Given the description of an element on the screen output the (x, y) to click on. 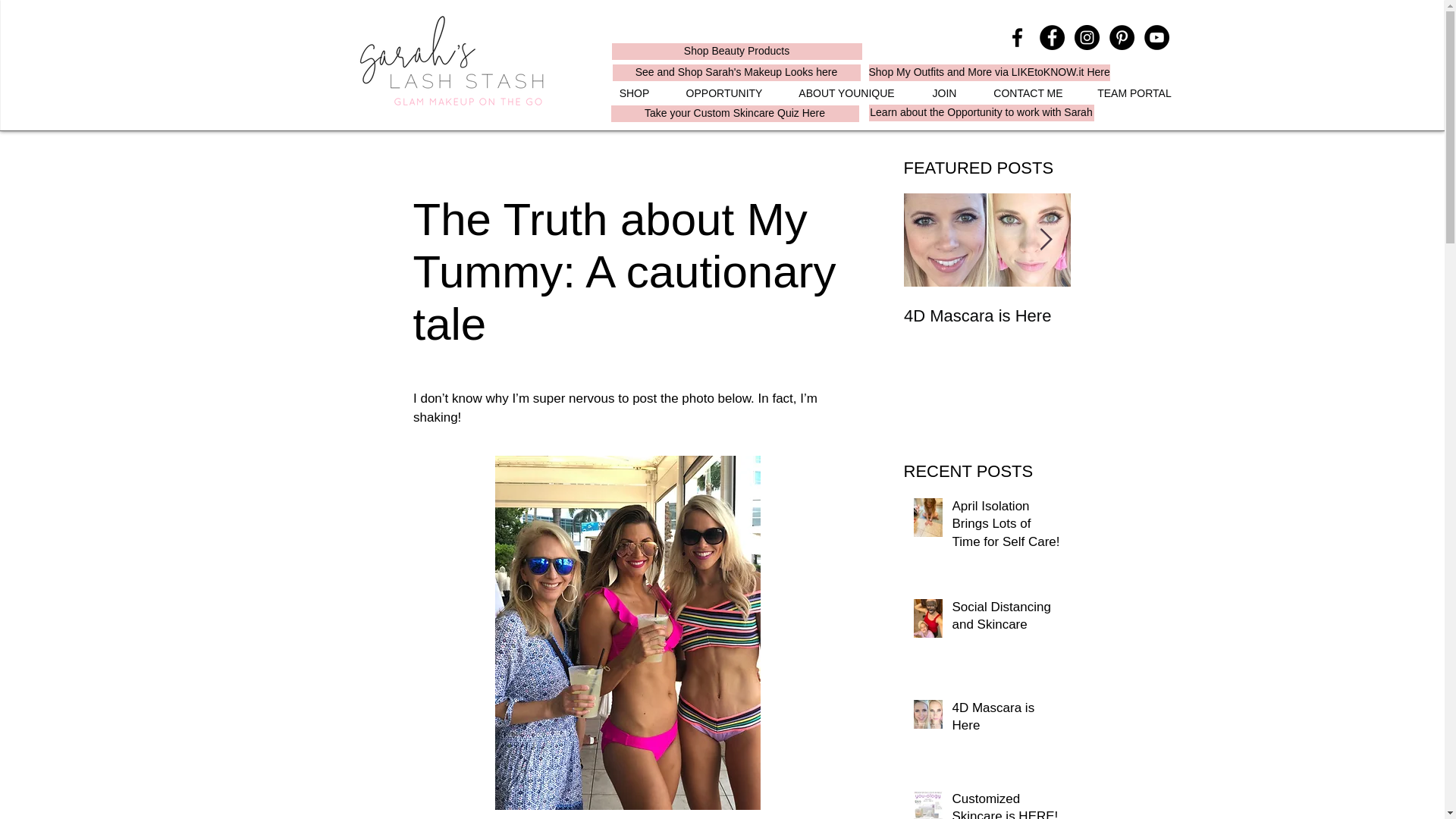
CONTACT ME (1027, 93)
ABOUT YOUNIQUE (845, 93)
Shop Beauty Products (736, 51)
See and Shop Sarah's Makeup Looks here (736, 72)
Customized Skincare is HERE! (1006, 804)
SHOP (633, 93)
Take your Custom Skincare Quiz Here (735, 113)
4D Mascara is Here (1006, 720)
OPPORTUNITY (724, 93)
Shop My Outfits and More via LIKEtoKNOW.it Here (989, 72)
4D Mascara is Here (987, 315)
Social Distancing and Skincare (1006, 619)
Customized Skincare is HERE! (1153, 325)
Learn about the Opportunity to work with Sarah (981, 112)
TEAM PORTAL (1134, 93)
